Given the description of an element on the screen output the (x, y) to click on. 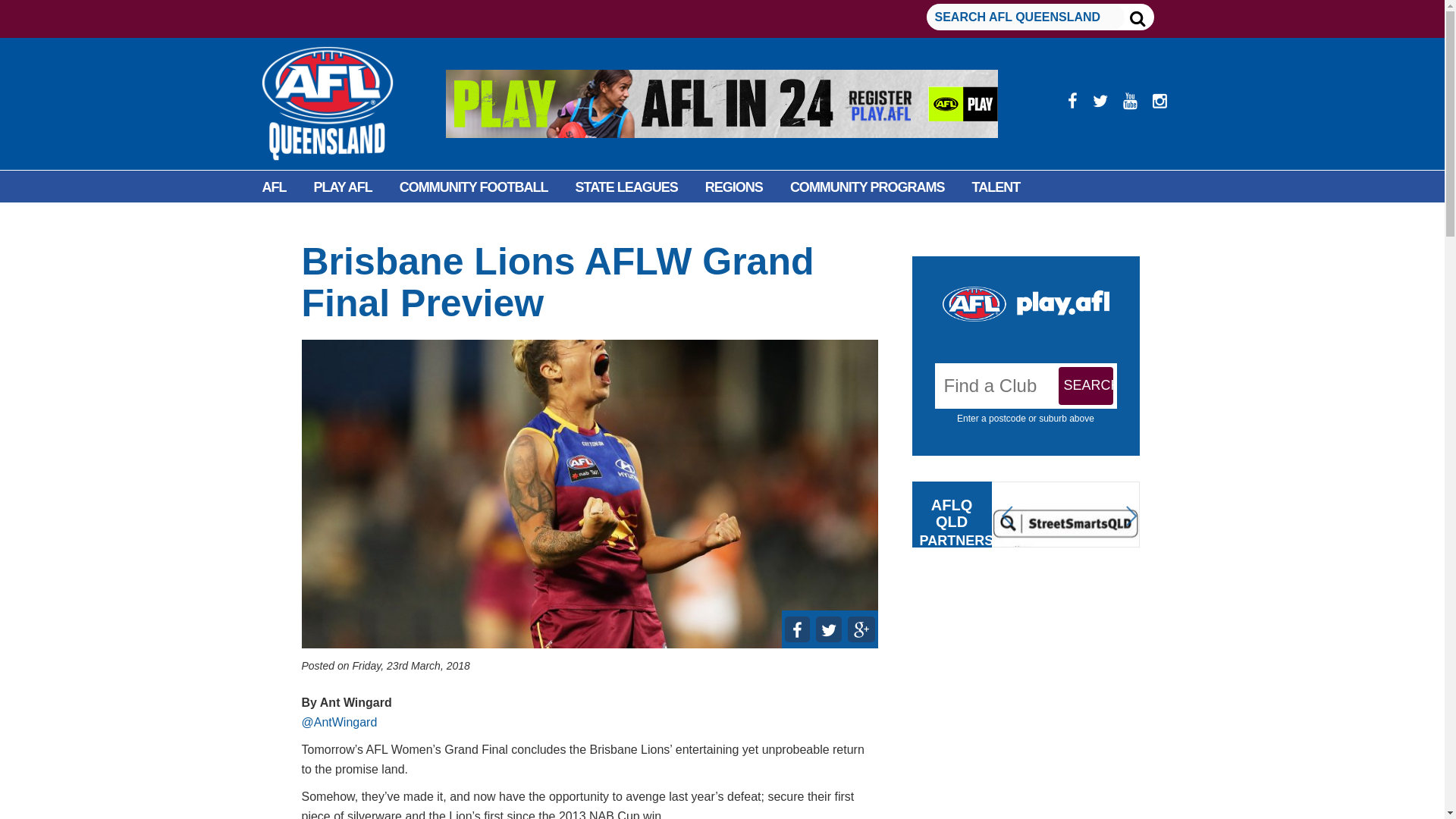
COMMUNITY PROGRAMS (867, 187)
FACILITIES (295, 221)
AFL (273, 187)
TALENT (995, 187)
REGIONS (733, 187)
STATE LEAGUES (626, 187)
PLAY AFL (342, 187)
COMMUNITY FOOTBALL (473, 187)
Search (1085, 385)
INFORMATION HUB (414, 221)
Search (1085, 385)
